Given the description of an element on the screen output the (x, y) to click on. 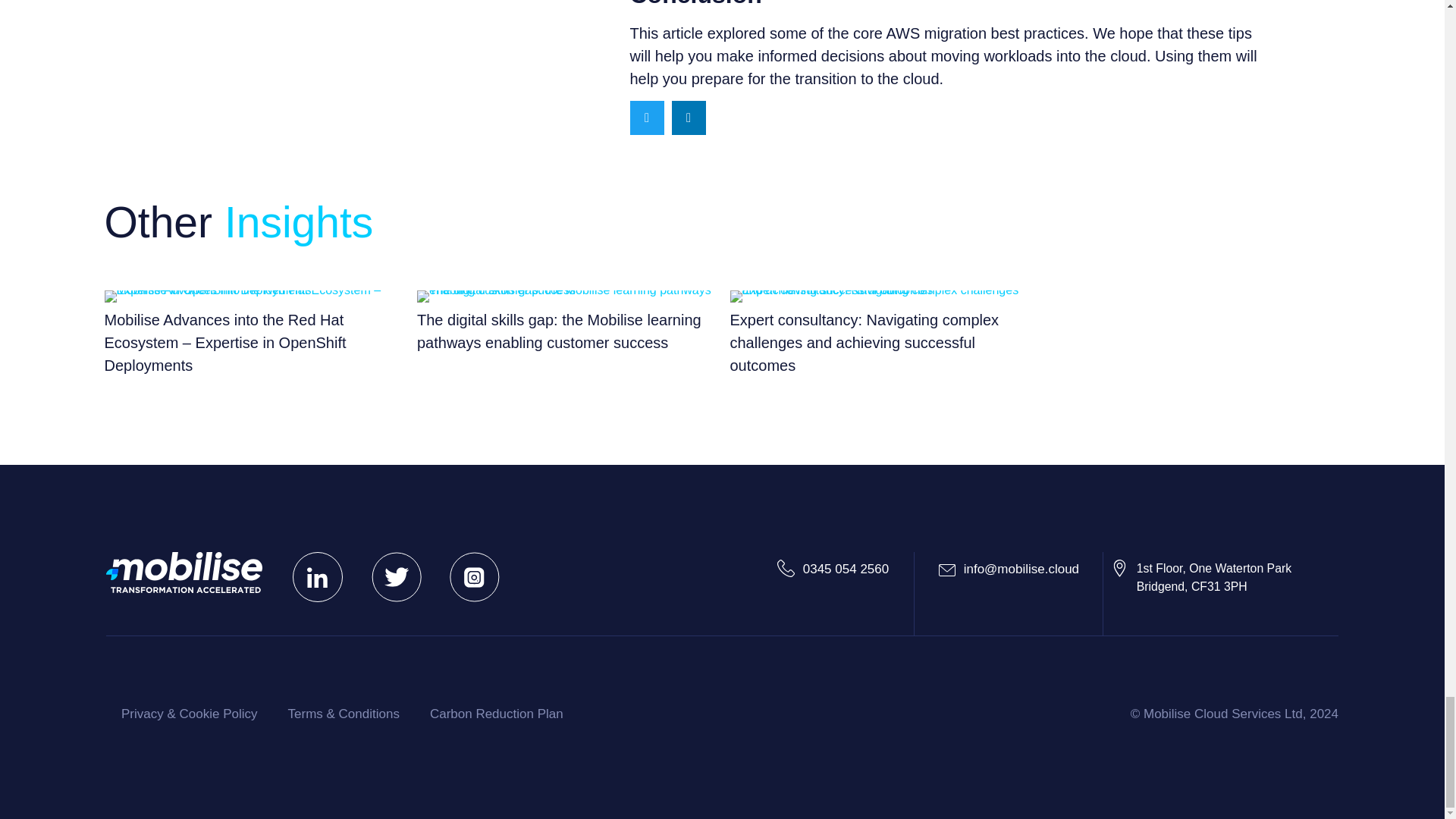
Carbon Reduction Plan (1200, 577)
0345 054 2560 (496, 714)
